Given the description of an element on the screen output the (x, y) to click on. 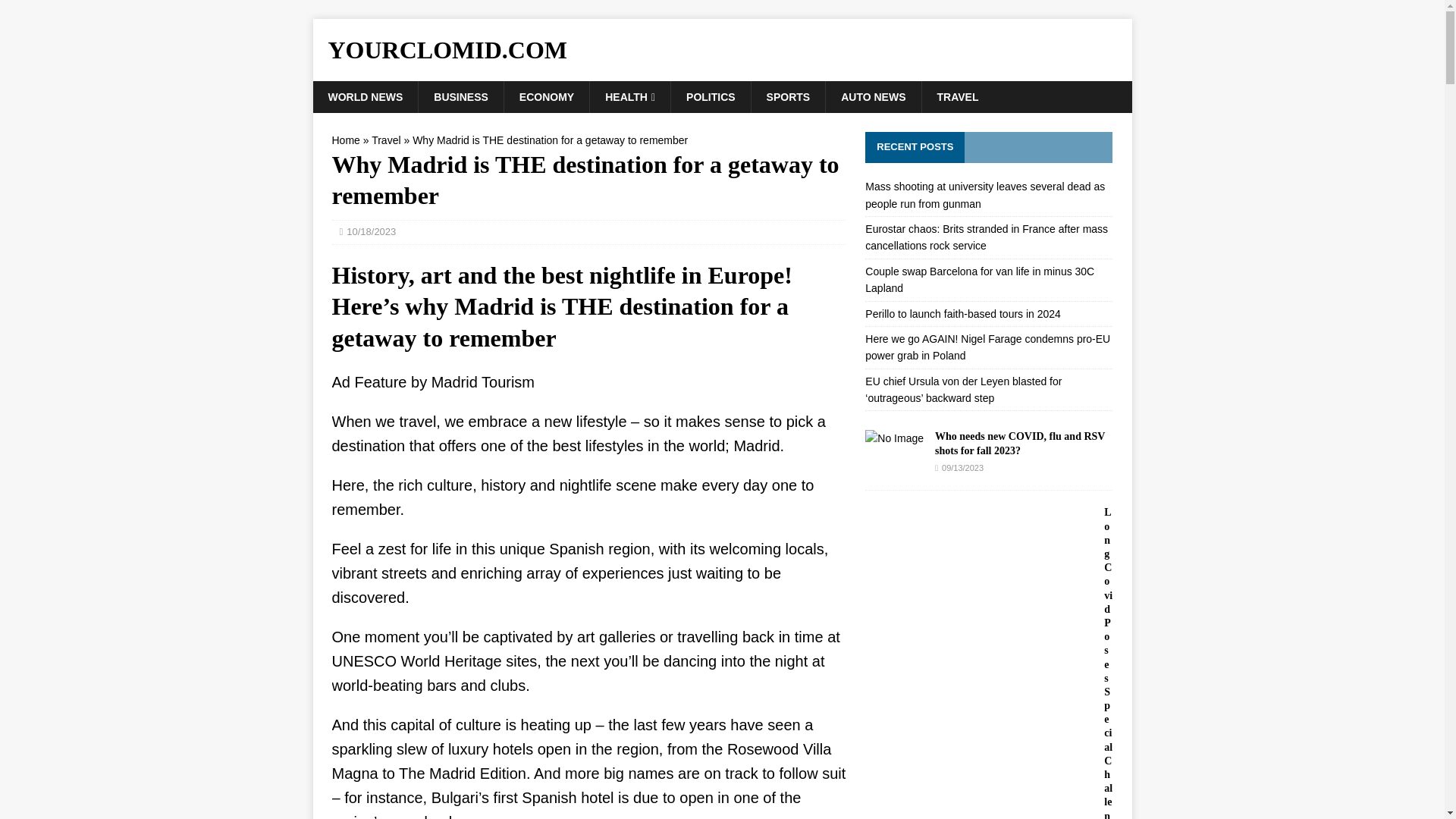
ECONOMY (546, 97)
AUTO NEWS (872, 97)
WORLD NEWS (365, 97)
YOURCLOMID.COM (721, 49)
Couple swap Barcelona for van life in minus 30C Lapland (979, 279)
Who needs new COVID, flu and RSV shots for fall 2023? (1019, 442)
TRAVEL (956, 97)
Who needs new COVID, flu and RSV shots for fall 2023? (893, 438)
Home (345, 140)
POLITICS (710, 97)
Travel (385, 140)
Perillo to launch faith-based tours in 2024 (962, 313)
